Given the description of an element on the screen output the (x, y) to click on. 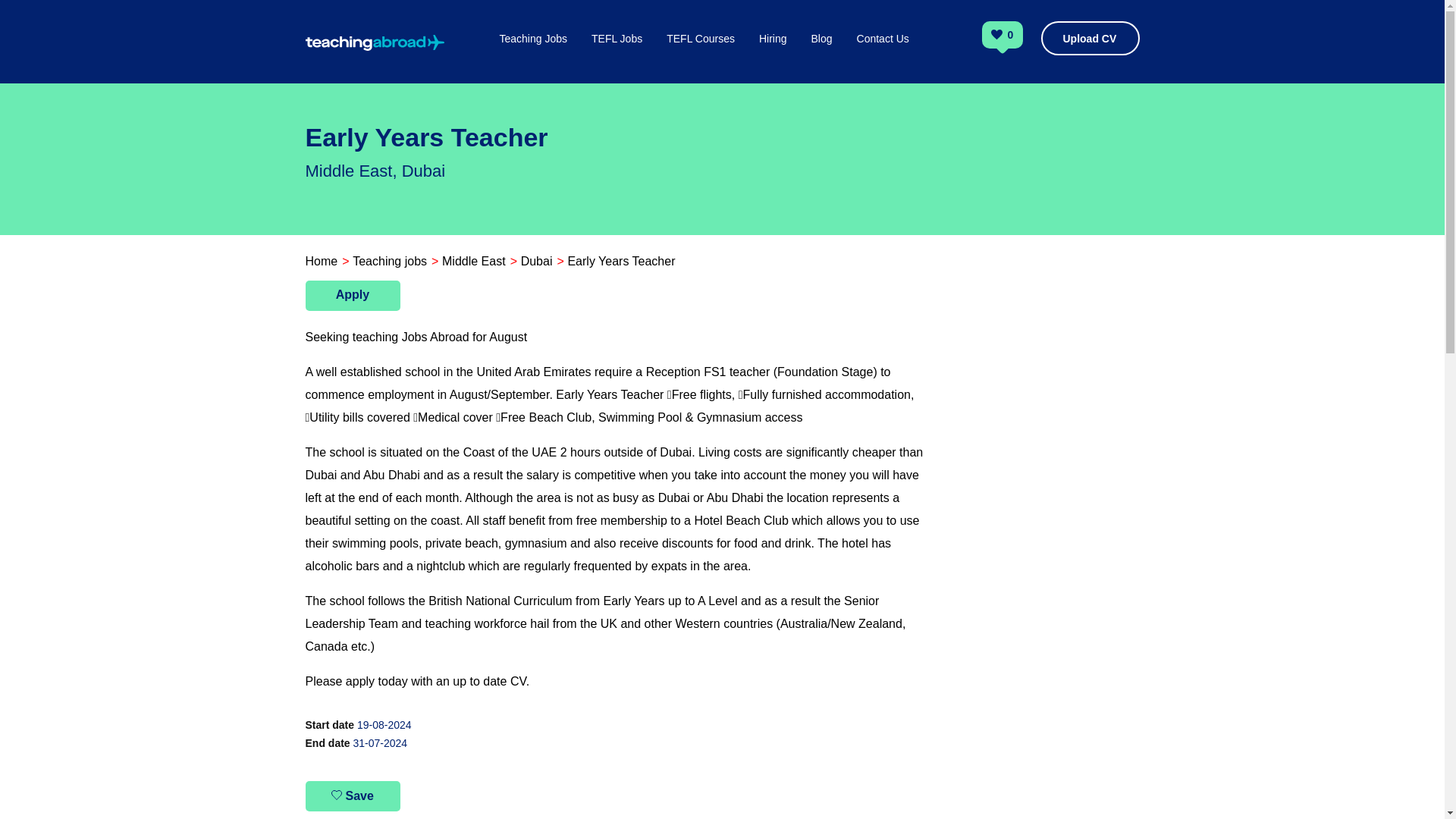
Middle East (473, 260)
Home (320, 260)
Contact Us (882, 55)
Teaching Jobs (533, 55)
0 (1011, 36)
Apply (351, 295)
Dubai (537, 260)
TEFL Courses (700, 55)
TEFL Jobs (616, 55)
Teaching jobs (389, 260)
Upload CV (1089, 38)
